Given the description of an element on the screen output the (x, y) to click on. 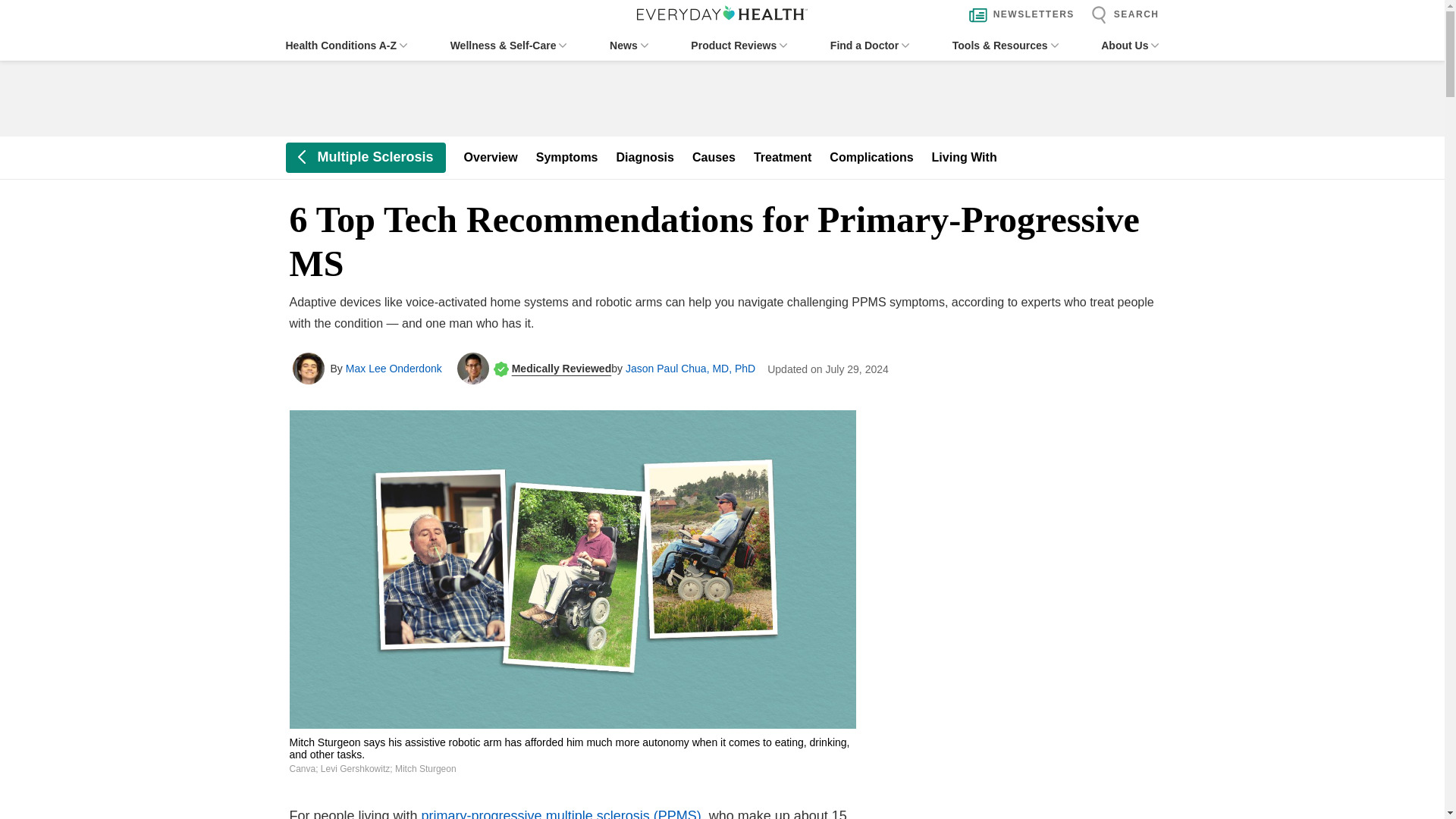
SEARCH (1120, 15)
Find a Doctor (868, 45)
Health Conditions A-Z (345, 45)
NEWSLETTERS (1018, 15)
Product Reviews (738, 45)
About Us (1129, 45)
News (628, 45)
